Given the description of an element on the screen output the (x, y) to click on. 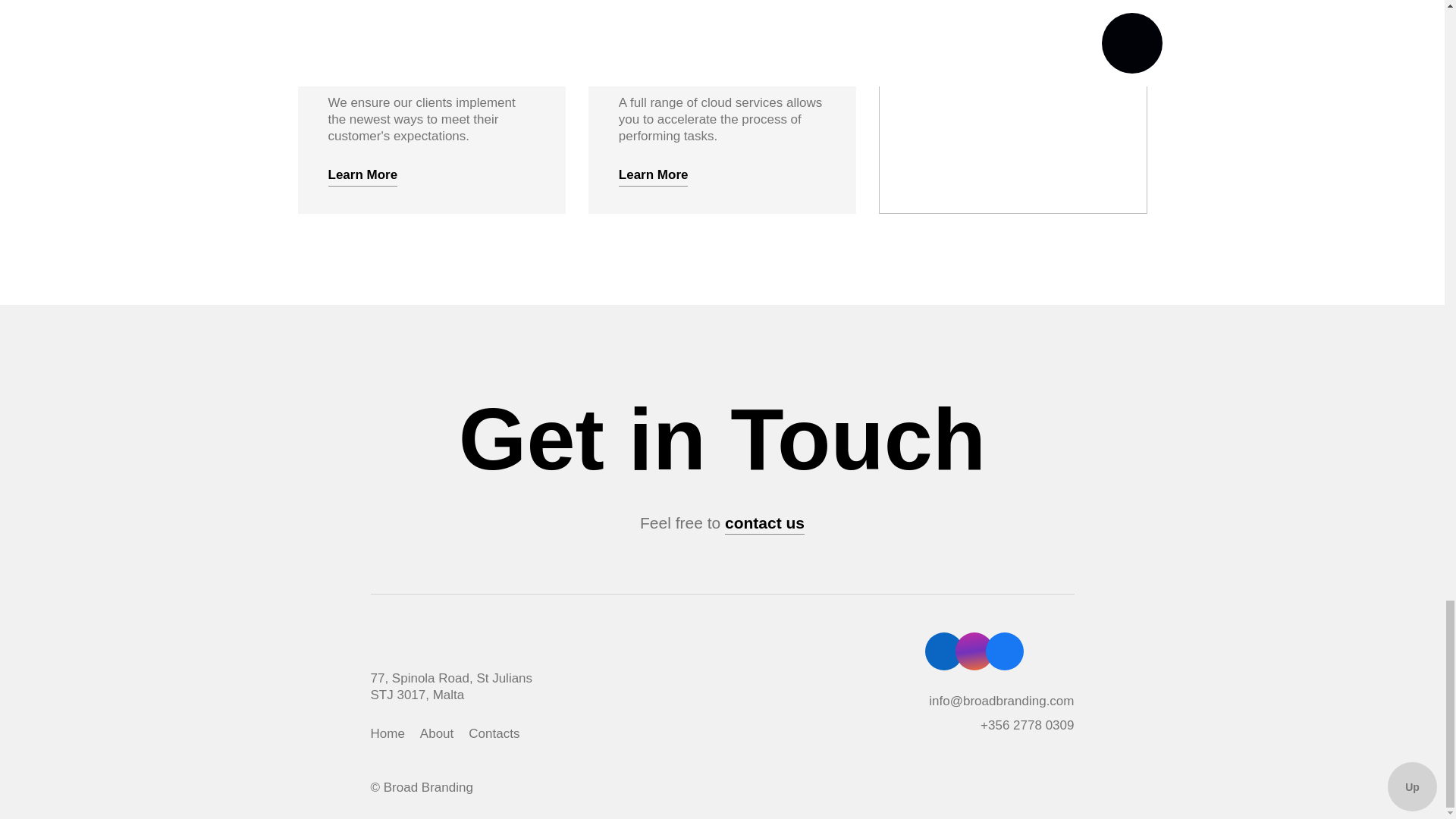
Learn More (362, 175)
Contacts (493, 734)
Home (386, 734)
Learn More (653, 175)
About (436, 734)
contact us (765, 523)
